Given the description of an element on the screen output the (x, y) to click on. 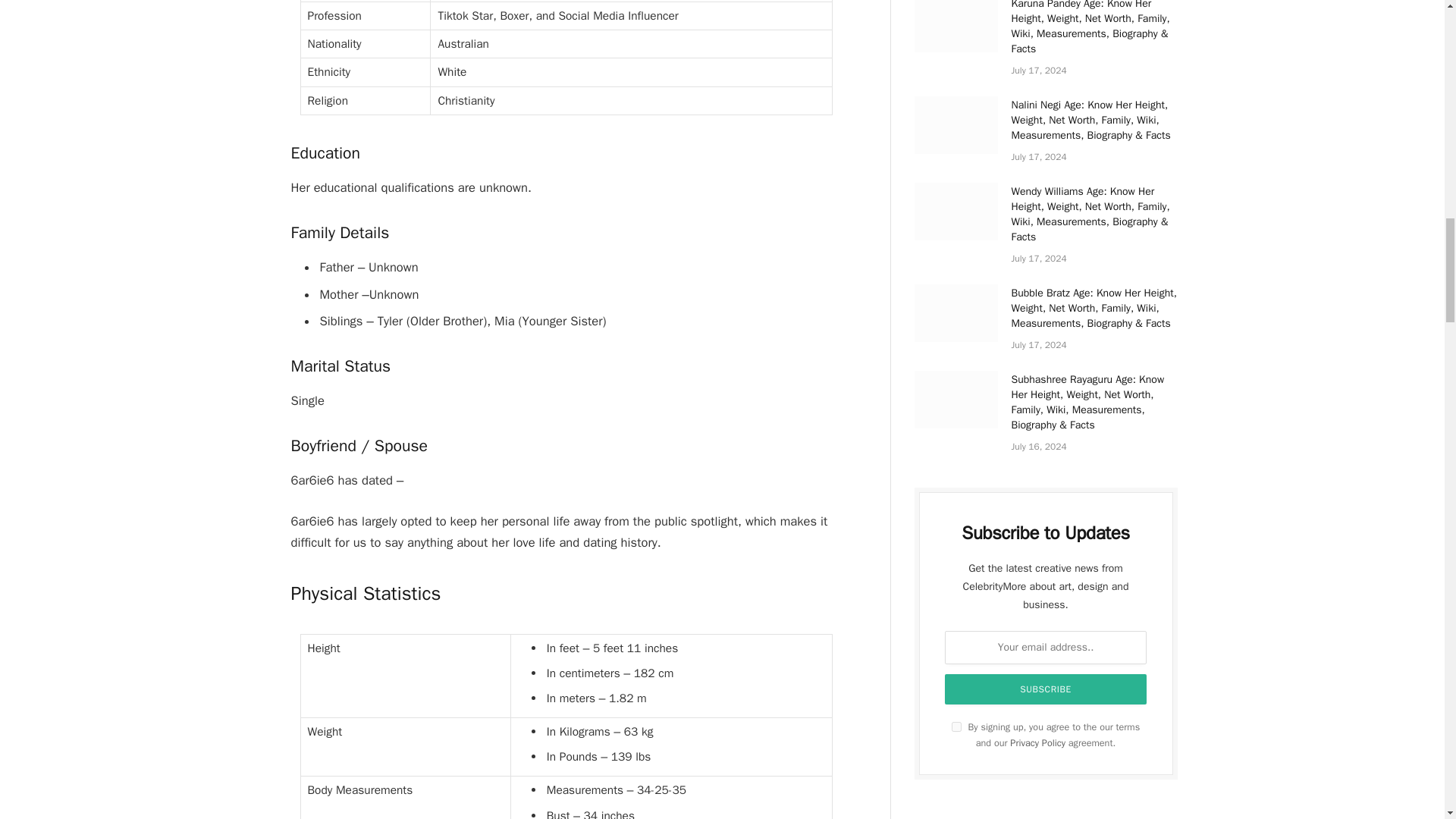
Subscribe (1045, 689)
on (956, 726)
